Given the description of an element on the screen output the (x, y) to click on. 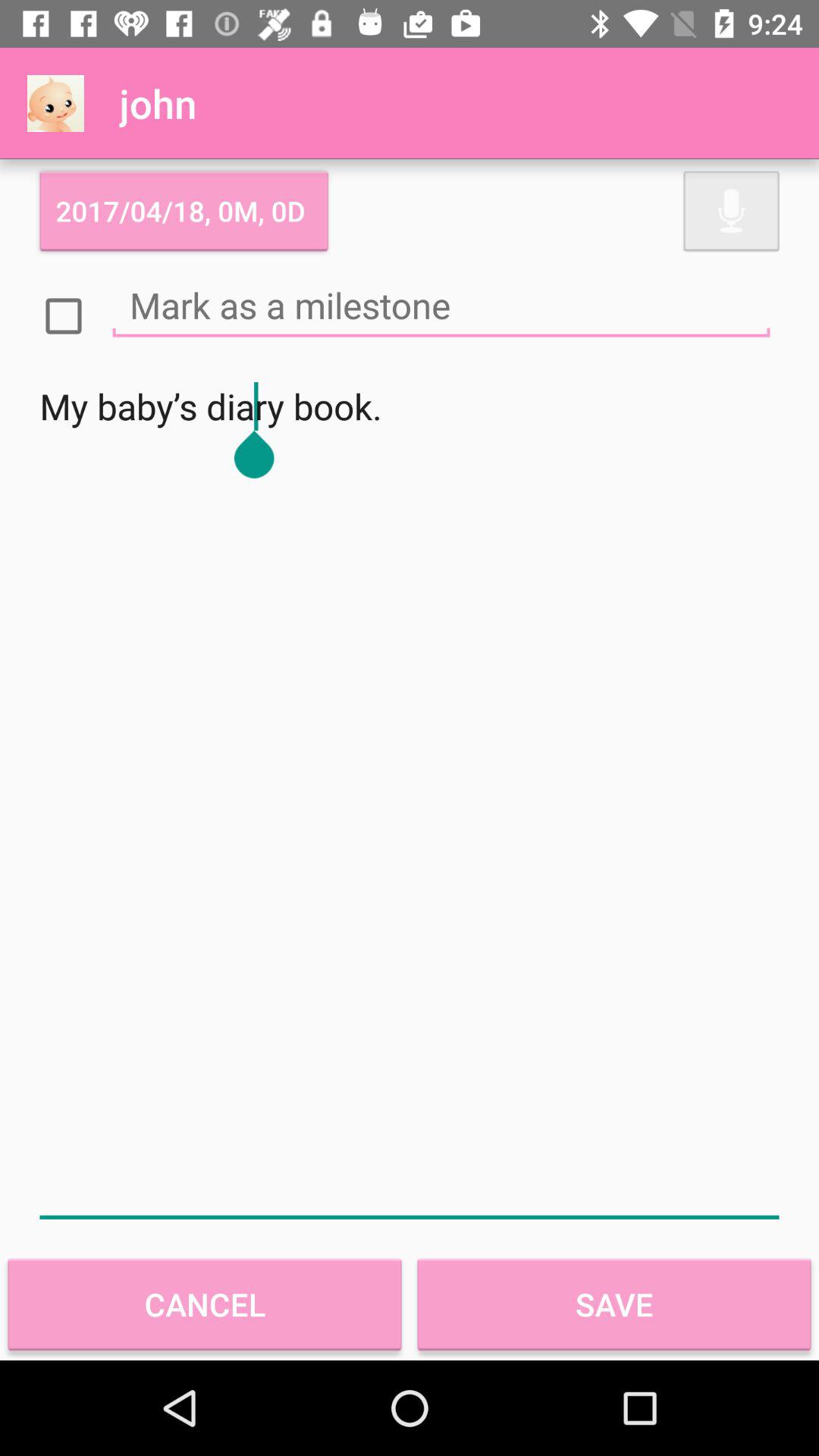
launch the item to the left of save item (204, 1304)
